Given the description of an element on the screen output the (x, y) to click on. 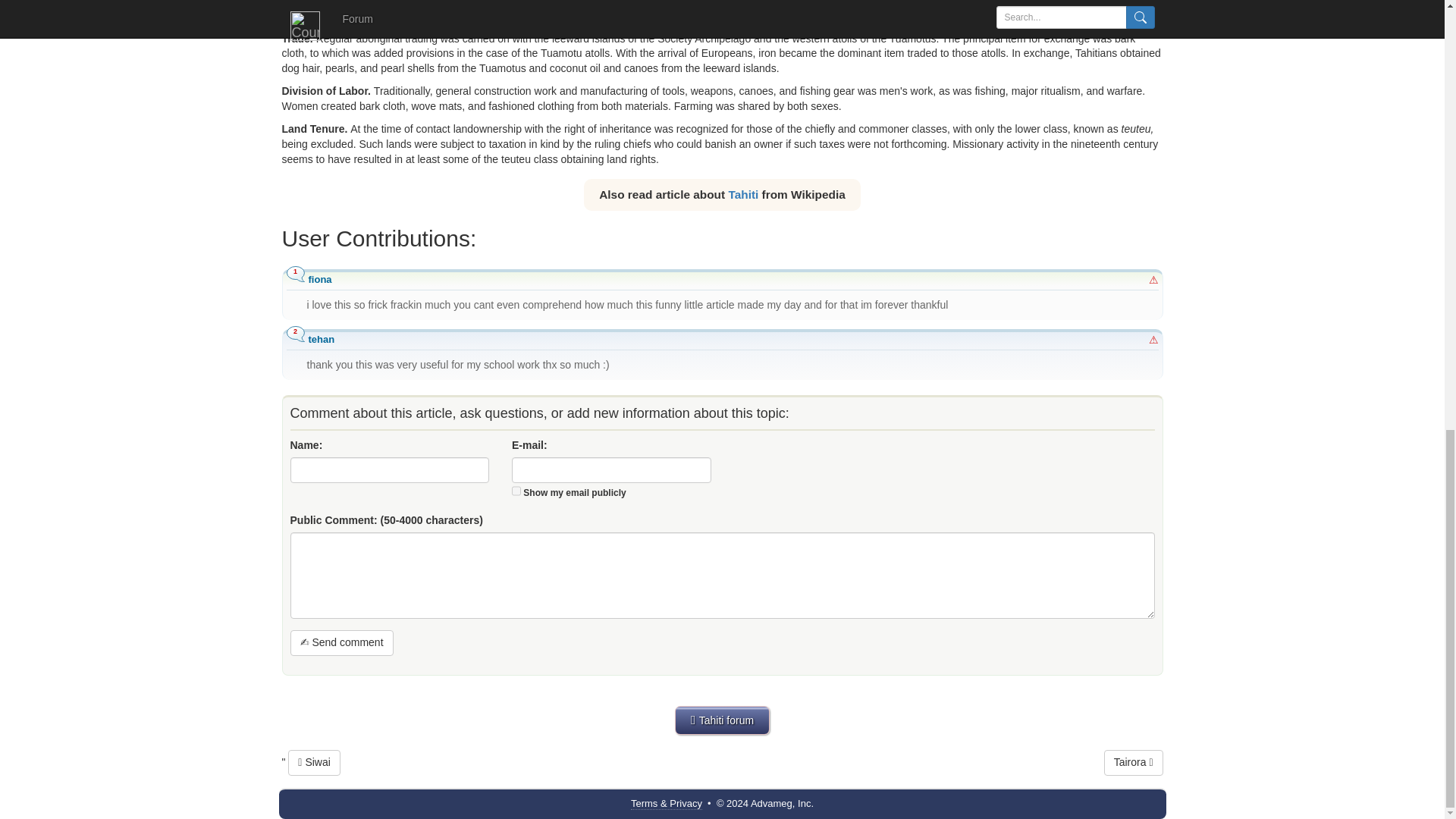
Tairora (1133, 762)
1 (516, 491)
Report this comment as inappropriate (1152, 279)
Tahiti (743, 194)
Siwai (313, 762)
Tahiti forum (722, 719)
Report this comment as inappropriate (1152, 339)
